Given the description of an element on the screen output the (x, y) to click on. 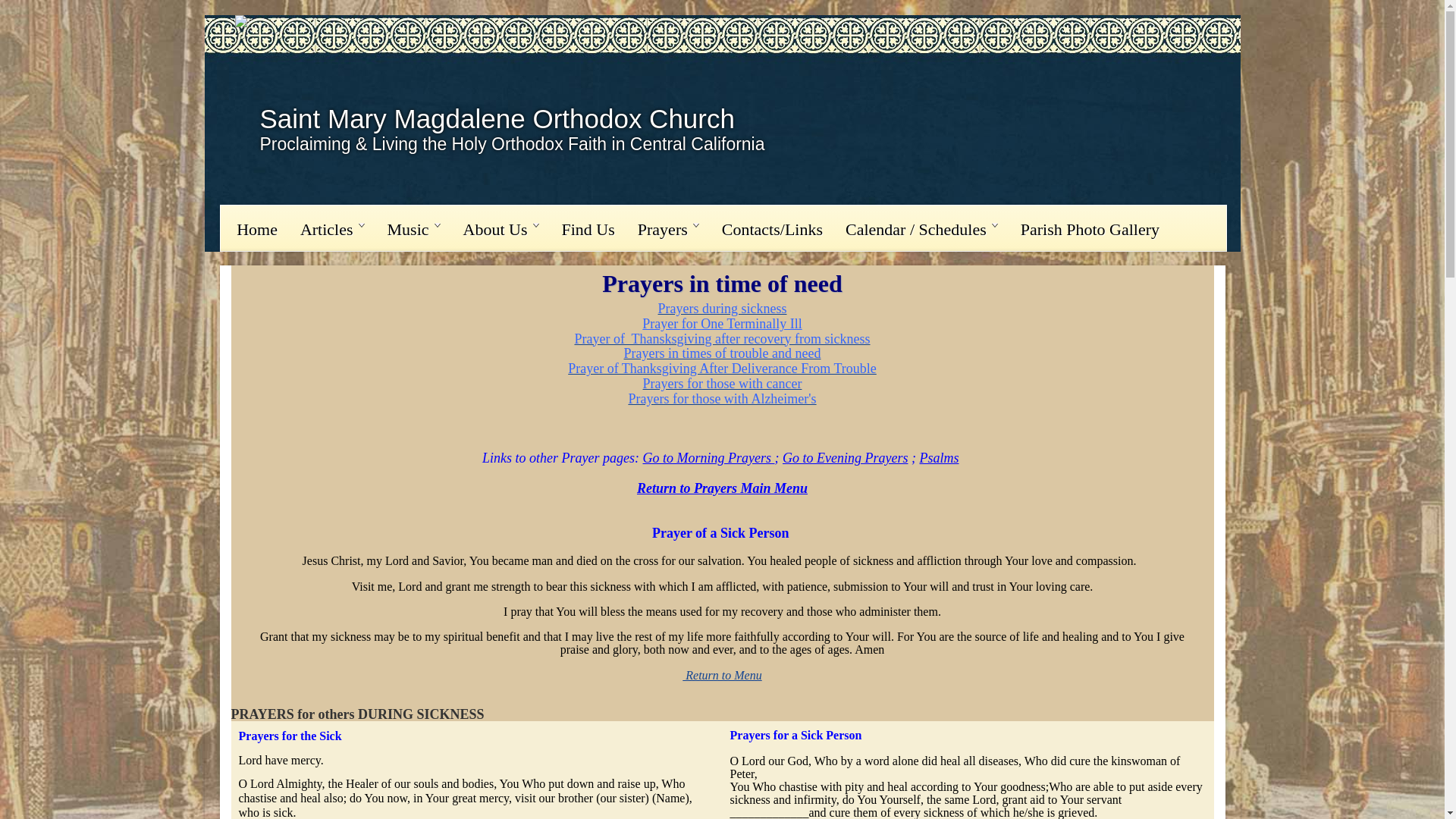
Find Us (588, 228)
Home (256, 228)
Music (413, 228)
Articles (331, 228)
Prayers (668, 228)
About Us (500, 228)
